Given the description of an element on the screen output the (x, y) to click on. 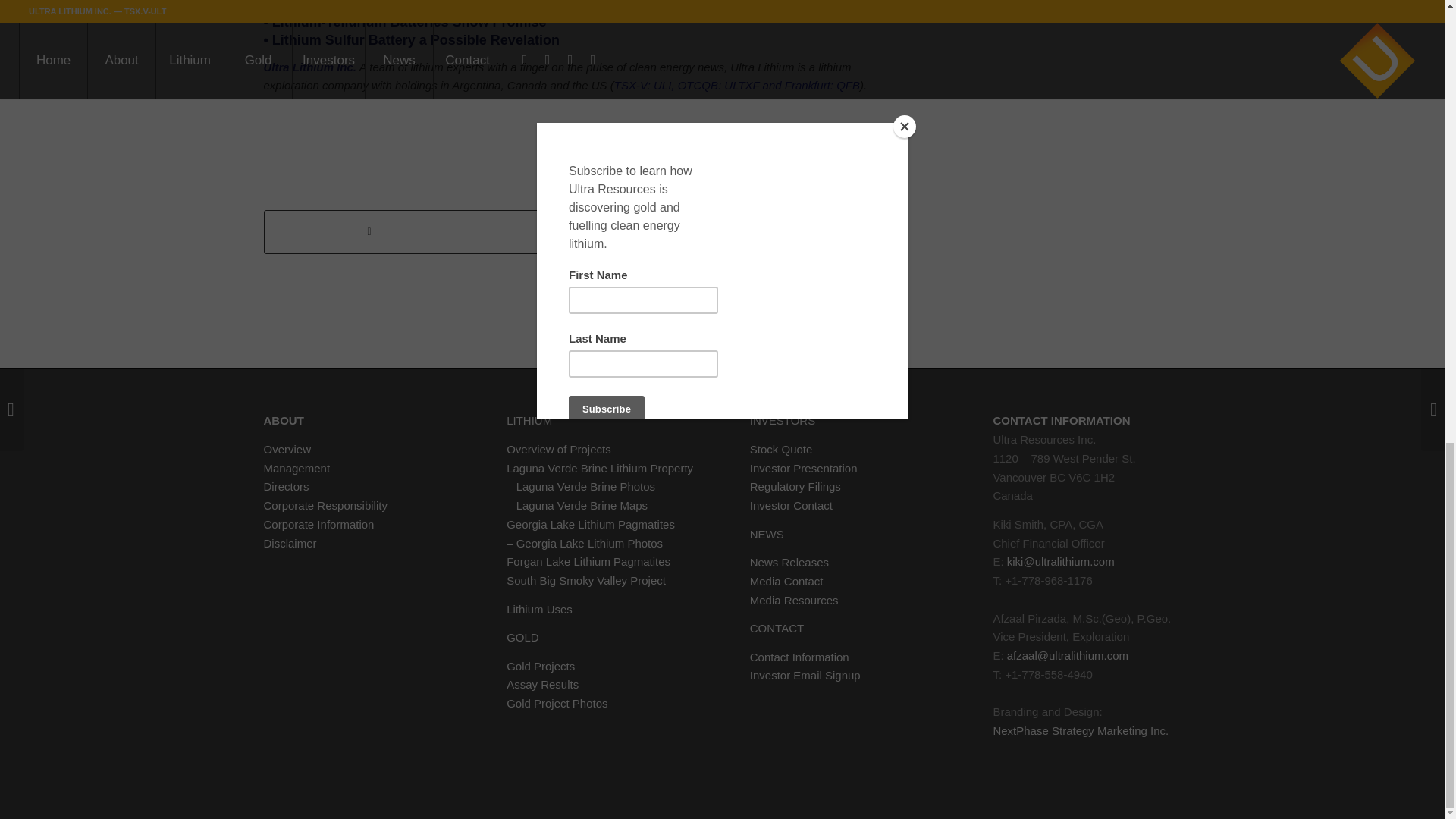
Platooning Electric and Automated Cars (427, 5)
General Motors Goes Electric (405, 21)
Global Lithium Market for Batteries to Double (411, 39)
